Given the description of an element on the screen output the (x, y) to click on. 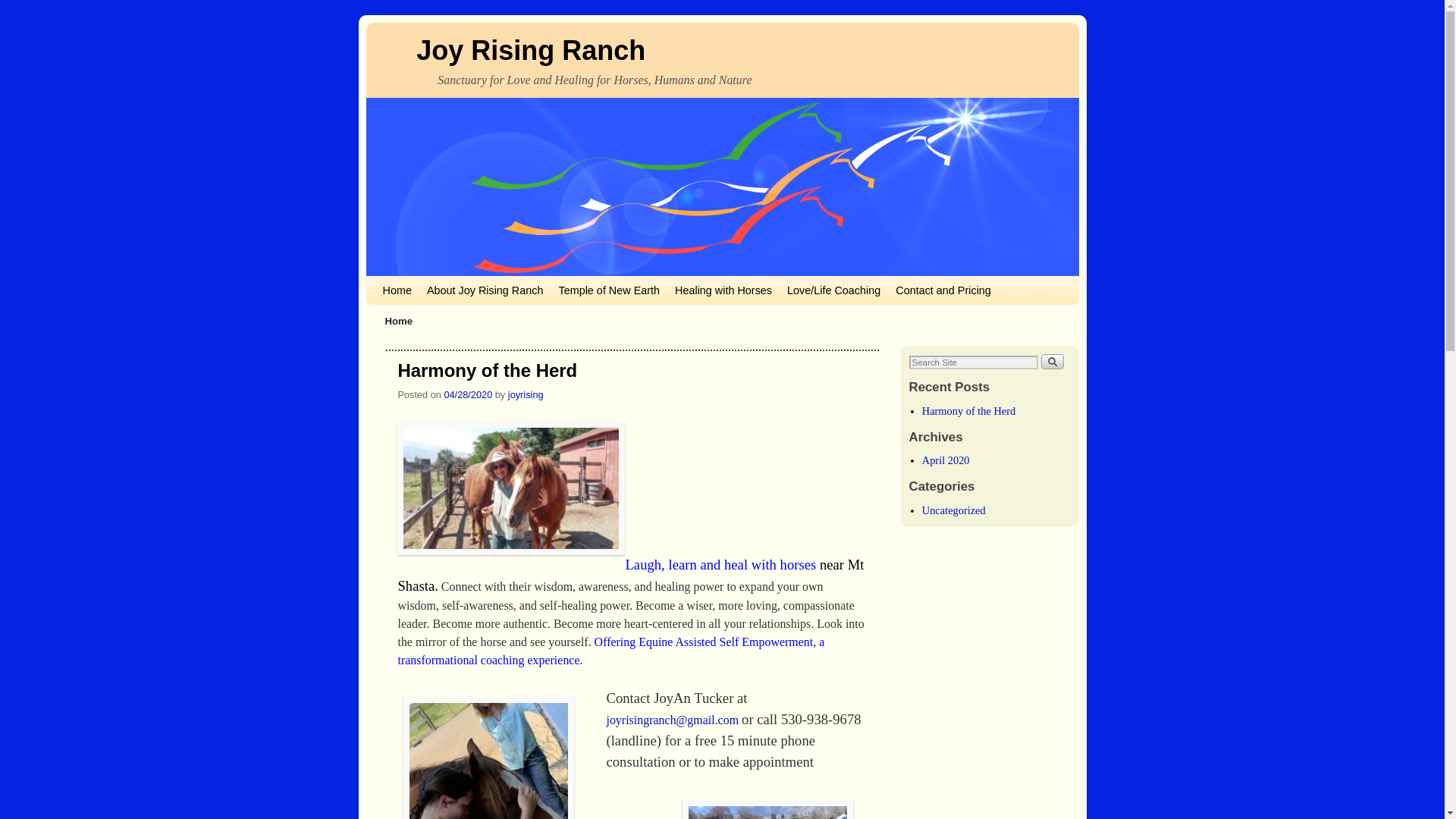
View all posts by joyrising (525, 394)
Harmony of the Herd (967, 410)
Joy Rising Ranch (530, 50)
Home (396, 290)
Permalink to Harmony of the Herd (486, 370)
6:27 pm (468, 394)
April 2020 (945, 460)
Joy Rising Ranch (530, 50)
Contact and Pricing (943, 290)
About Joy Rising Ranch (485, 290)
Temple of New Earth (608, 290)
Skip to secondary content (412, 282)
Uncategorized (953, 510)
Healing with Horses (722, 290)
joyrising (525, 394)
